Given the description of an element on the screen output the (x, y) to click on. 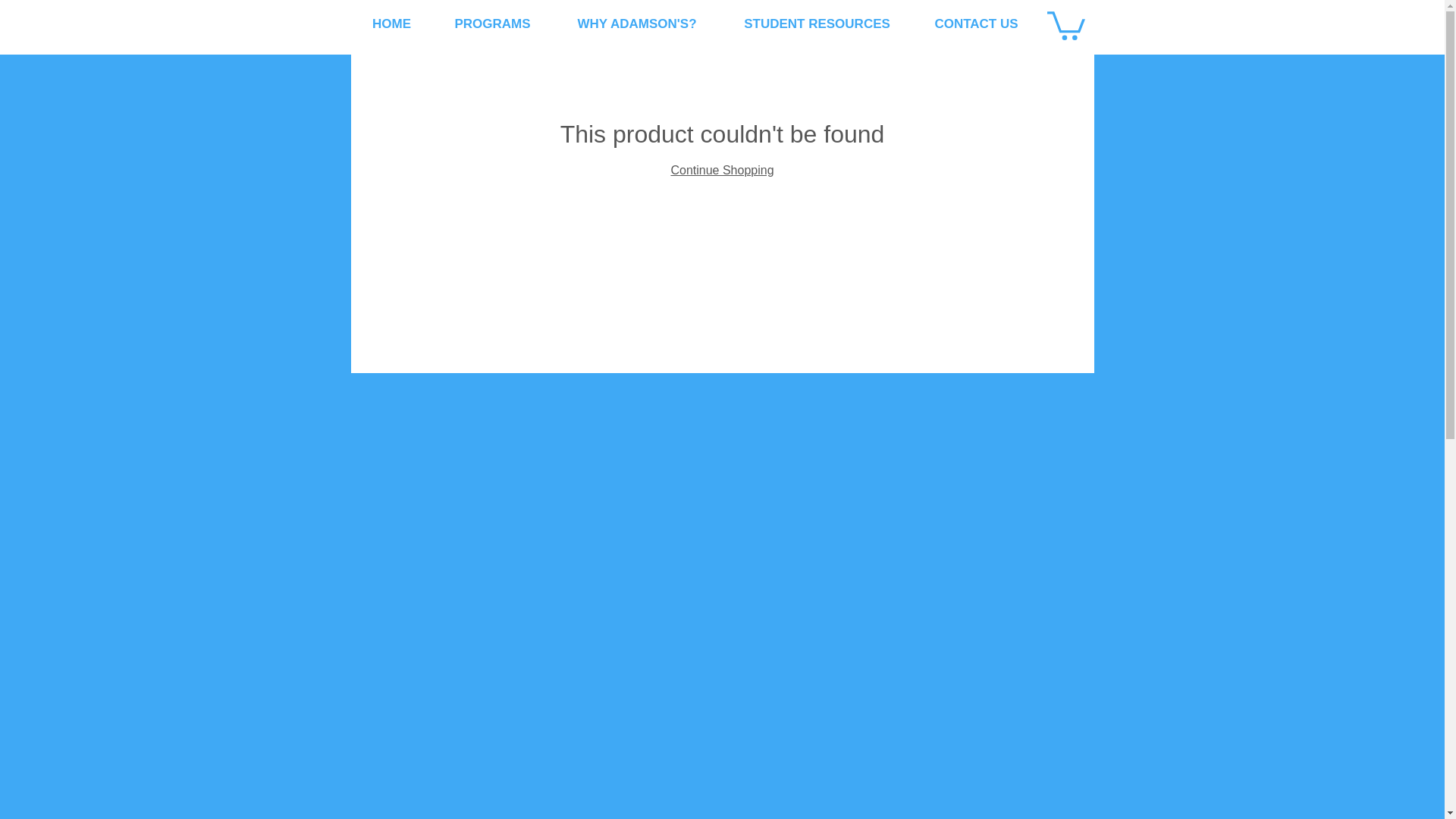
WHY ADAMSON'S? (635, 24)
CONTACT US (976, 24)
STUDENT RESOURCES (817, 24)
HOME (391, 24)
PROGRAMS (491, 24)
Continue Shopping (721, 169)
